Given the description of an element on the screen output the (x, y) to click on. 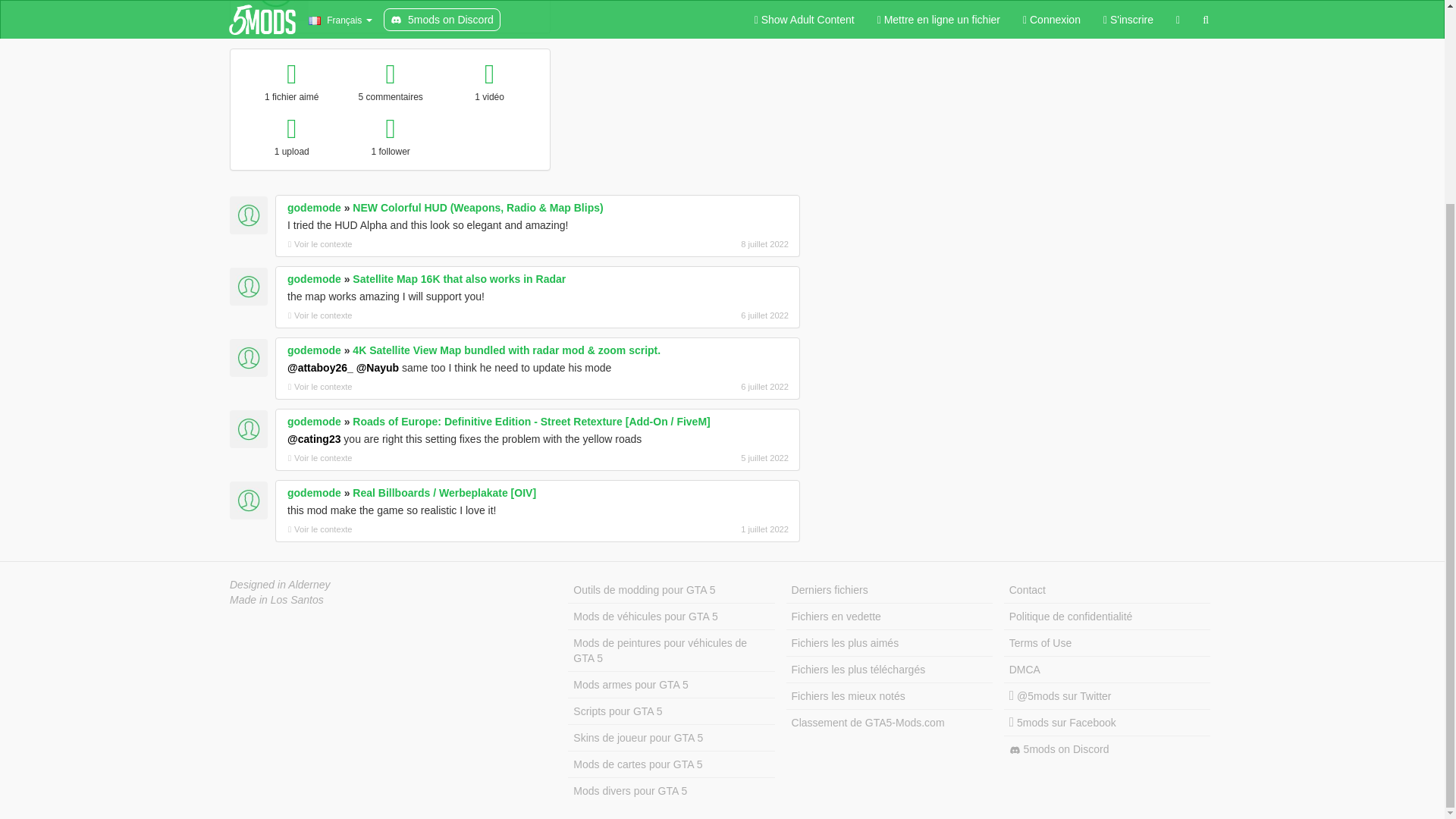
5mods sur Facebook (1106, 723)
08 juillet 2022 11h 52min 13s (708, 243)
05 juillet 2022 22h 25min 45s (708, 458)
5mods on Discord (1106, 749)
01 juillet 2022 11h 00min 14s (708, 529)
06 juillet 2022 21h 27min 46s (708, 315)
06 juillet 2022 21h 01min 02s (708, 386)
